Given the description of an element on the screen output the (x, y) to click on. 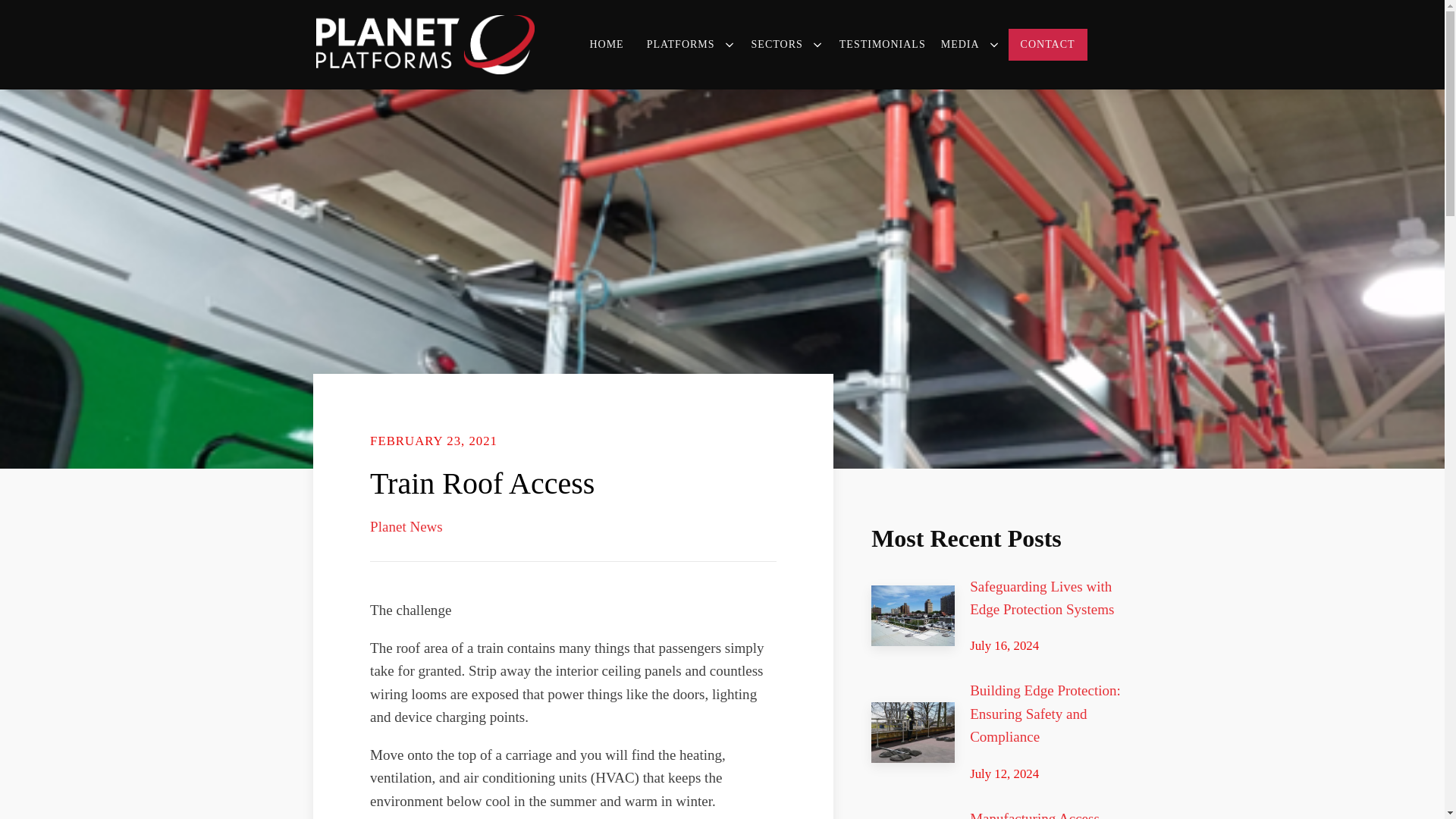
HOME (609, 44)
CONTACT (1048, 44)
TESTIMONIALS (883, 44)
